Given the description of an element on the screen output the (x, y) to click on. 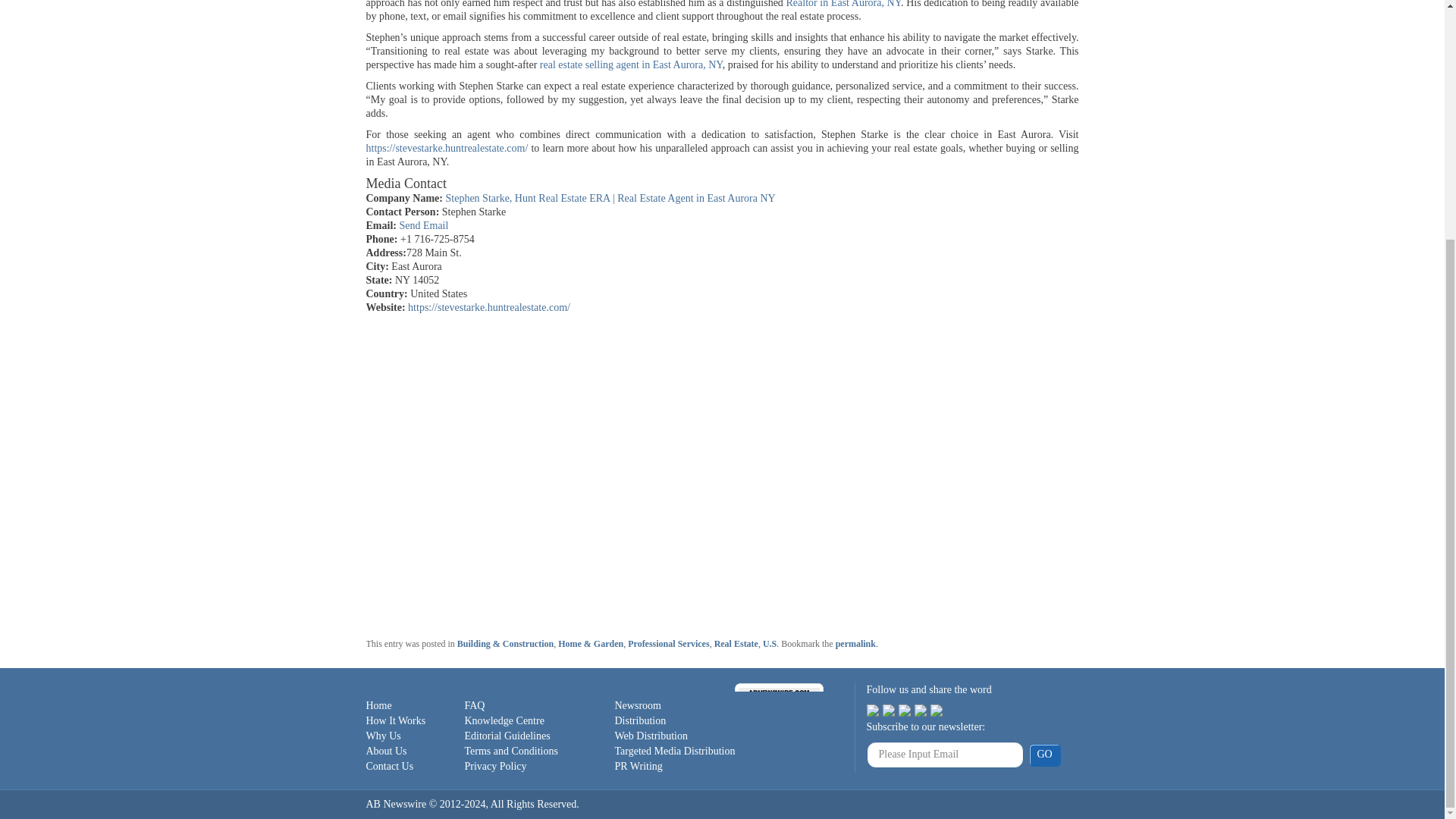
SiteLock (779, 708)
GO (1043, 754)
Please Input Email (944, 755)
